Given the description of an element on the screen output the (x, y) to click on. 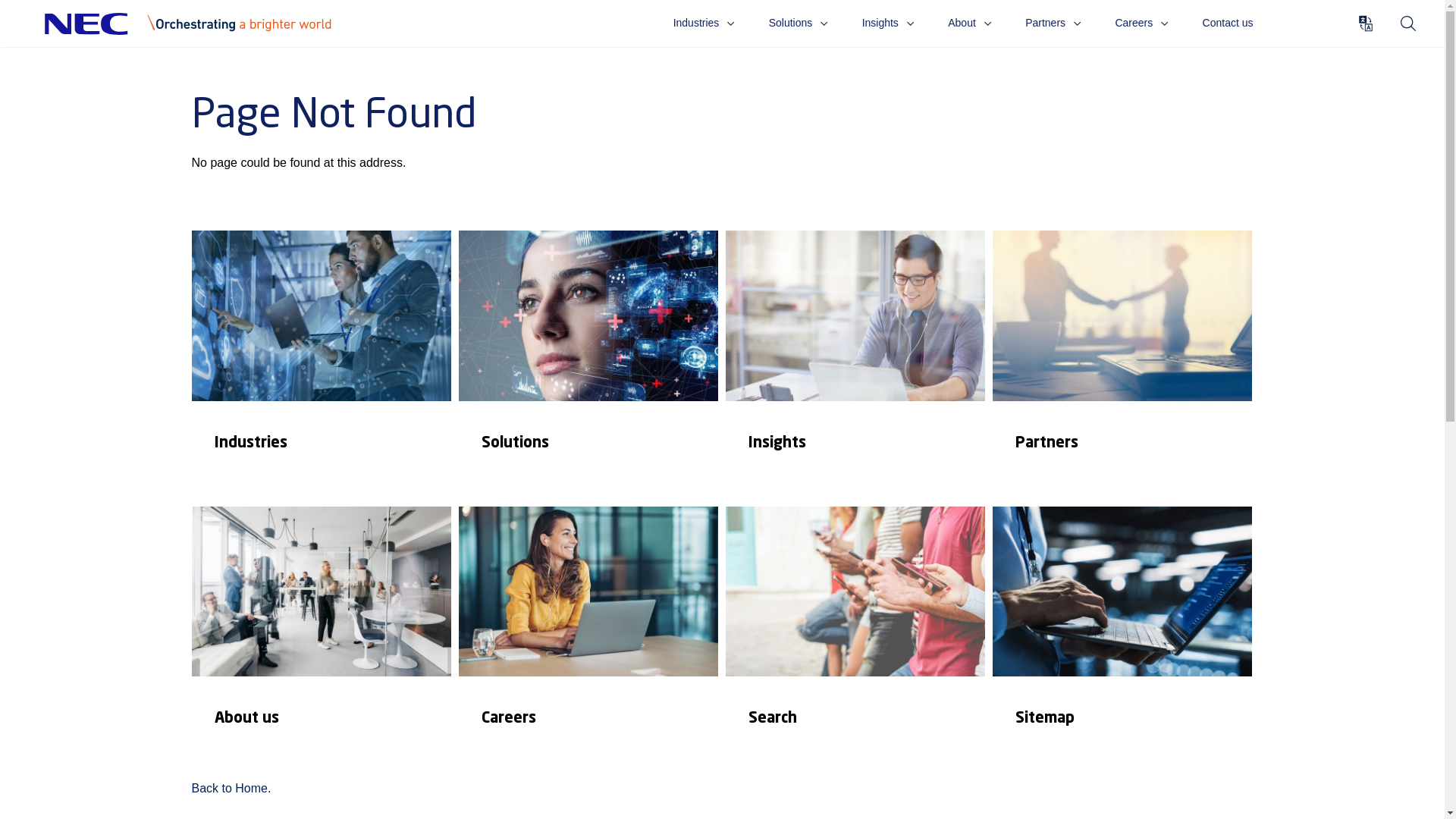
Back to Home Element type: text (228, 787)
Solutions Element type: text (587, 364)
Industries Element type: text (704, 22)
NEC Australia Element type: text (196, 23)
Sitemap Element type: text (1121, 640)
Search Element type: text (1407, 22)
Careers Element type: text (1141, 22)
Insights Element type: text (888, 22)
Contact us Element type: text (1227, 22)
Partners Element type: text (1053, 22)
Careers Element type: text (587, 640)
Insights Element type: text (854, 364)
Partners Element type: text (1121, 364)
Solutions Element type: text (798, 22)
About us Element type: text (320, 640)
View page in another language Element type: text (1365, 22)
Skip to Content (Press Enter) Element type: text (363, 14)
About Element type: text (969, 22)
Industries Element type: text (320, 364)
Search Element type: text (854, 640)
